Given the description of an element on the screen output the (x, y) to click on. 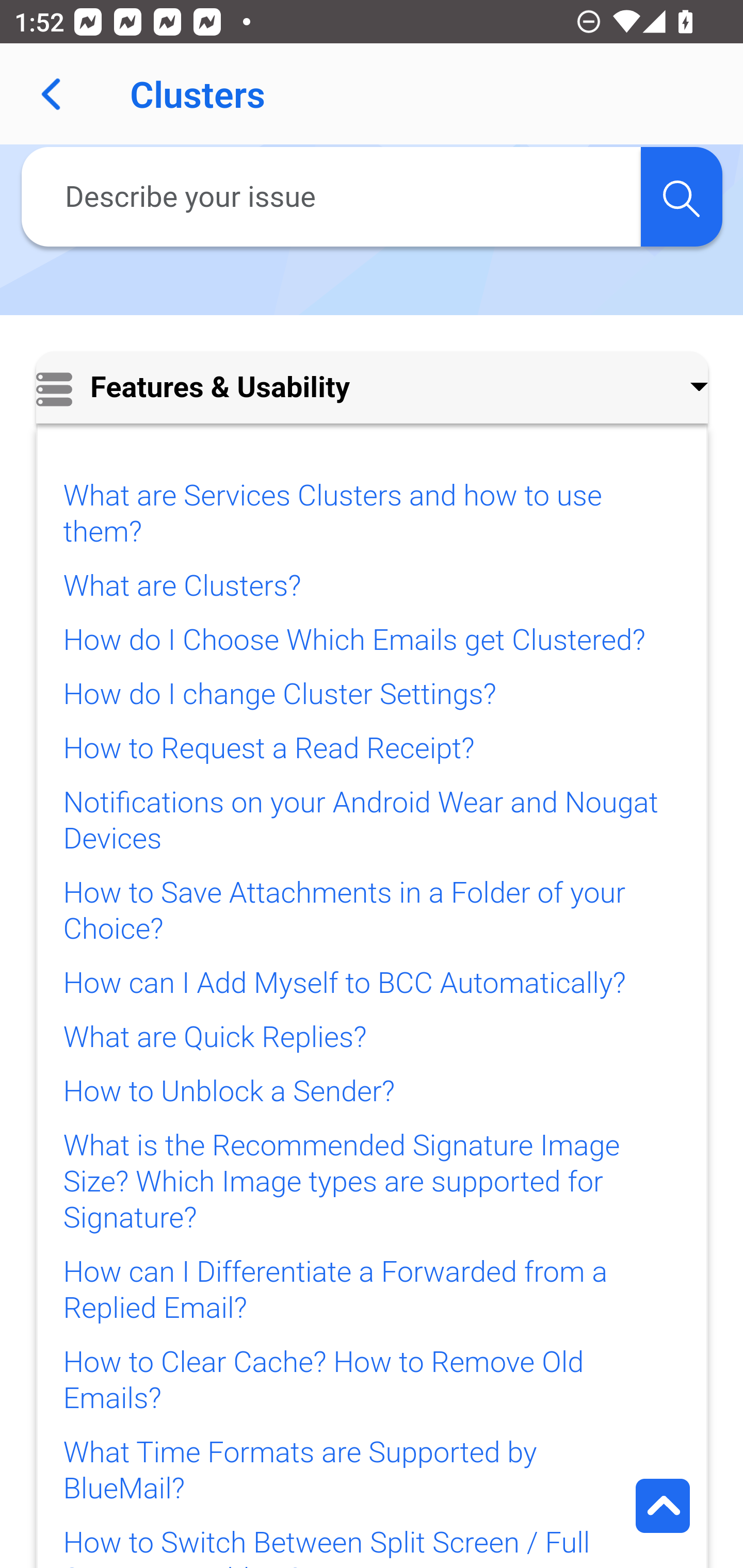
Navigate up (50, 93)
search (680, 196)
What are Services Clusters and how to use them? (332, 514)
What are Clusters? (181, 586)
How do I Choose Which Emails get Clustered? (353, 640)
How do I change Cluster Settings? (279, 695)
How to Request a Read Receipt? (267, 748)
How can I Add Myself to BCC Automatically? (343, 983)
What are Quick Replies? (214, 1037)
How to Unblock a Sender? (228, 1092)
How to Clear Cache? How to Remove Old Emails? (323, 1381)
What Time Formats are Supported by BlueMail? (299, 1470)
